Given the description of an element on the screen output the (x, y) to click on. 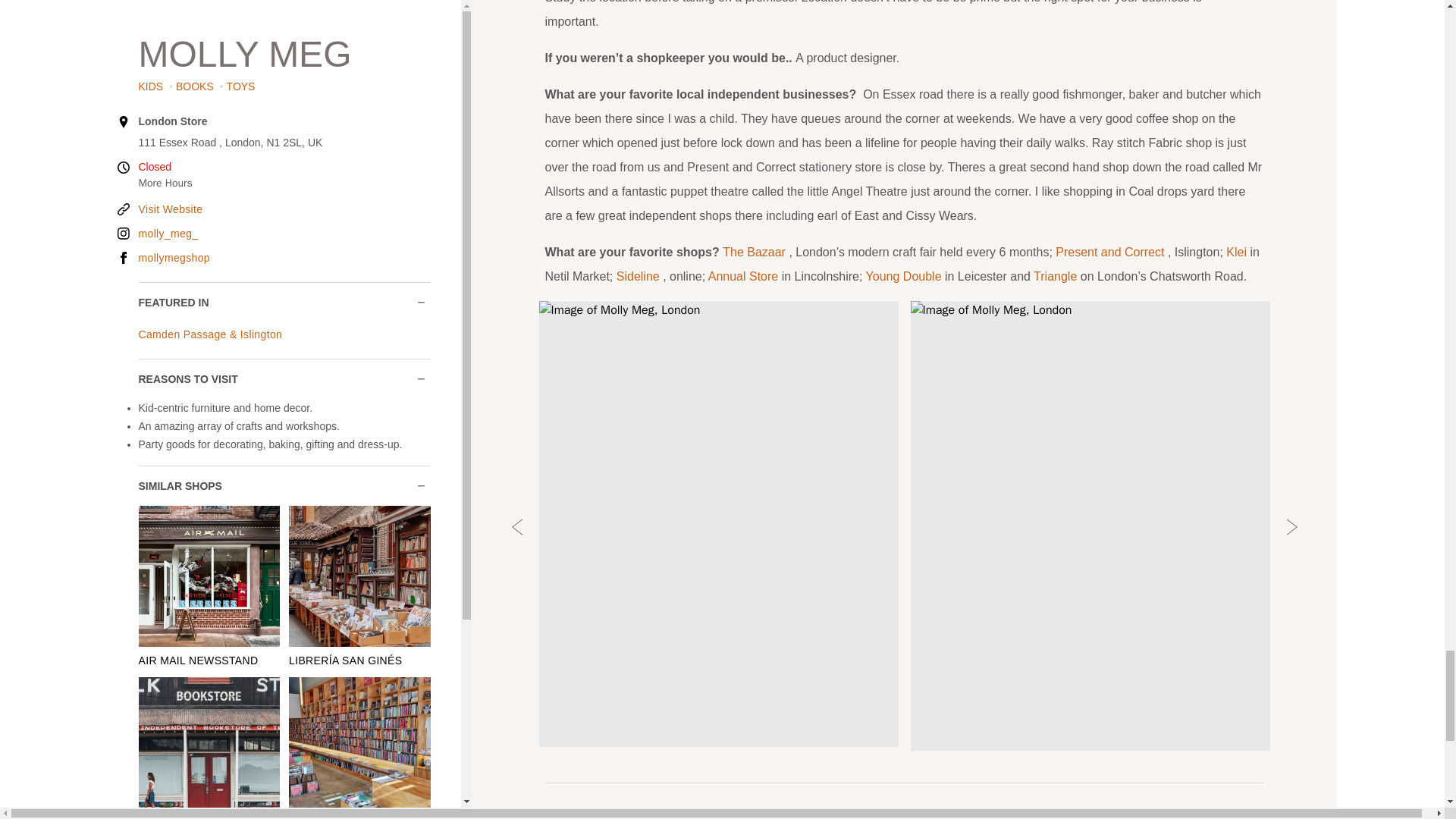
Triangle (1056, 276)
Annual Store (744, 276)
Young Double (905, 276)
The Bazaar (755, 251)
Present and Correct (1111, 251)
Klei (1237, 251)
Sideline (638, 276)
